Given the description of an element on the screen output the (x, y) to click on. 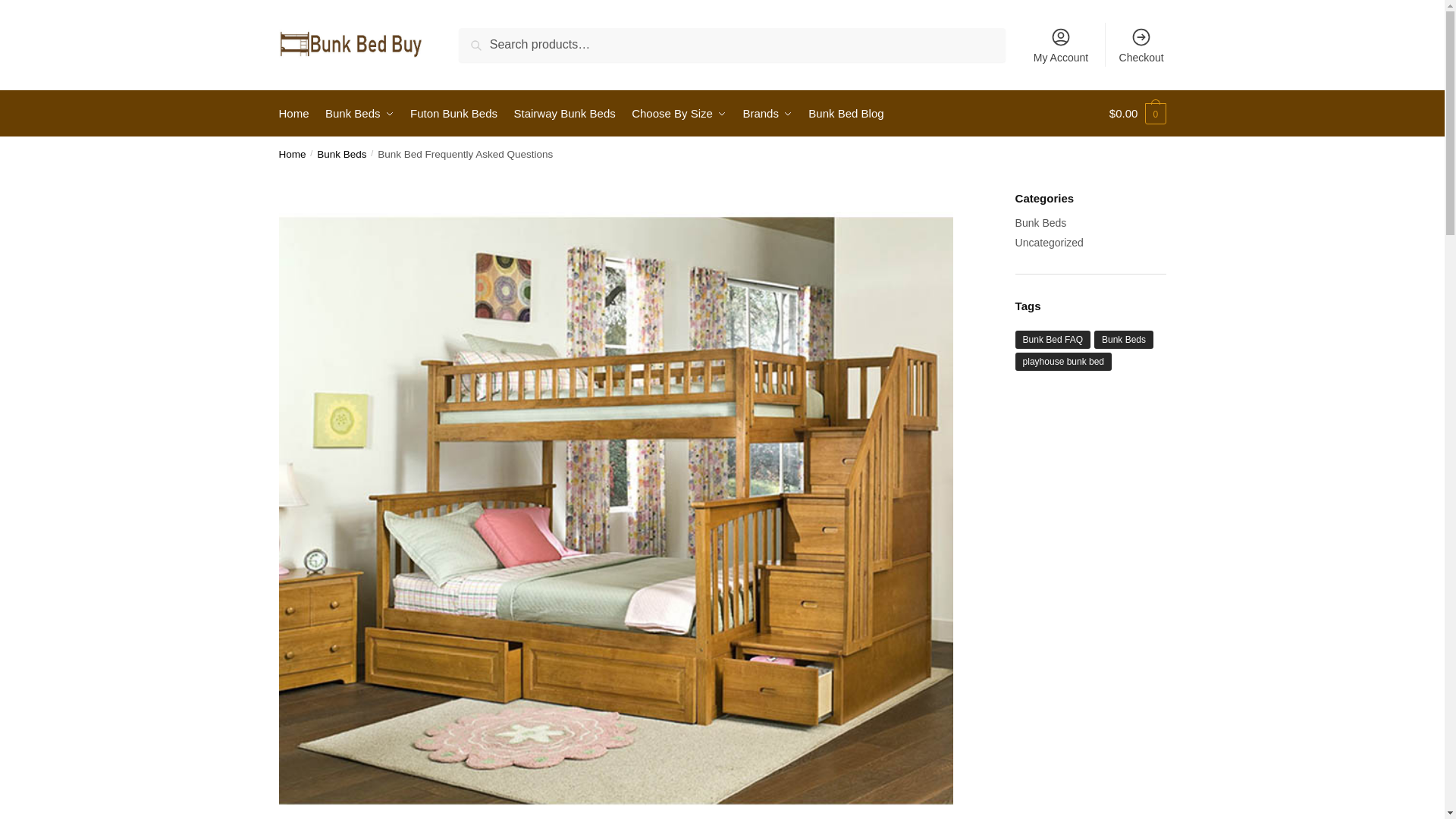
Home (292, 153)
Bunk Beds (359, 113)
Futon Bunk Beds (453, 113)
Brands (766, 113)
My Account (1061, 44)
Bunk Bed Blog (845, 113)
Search (477, 37)
Bunk Beds (341, 153)
Bunk Beds (1040, 223)
View your shopping cart (1137, 113)
